Given the description of an element on the screen output the (x, y) to click on. 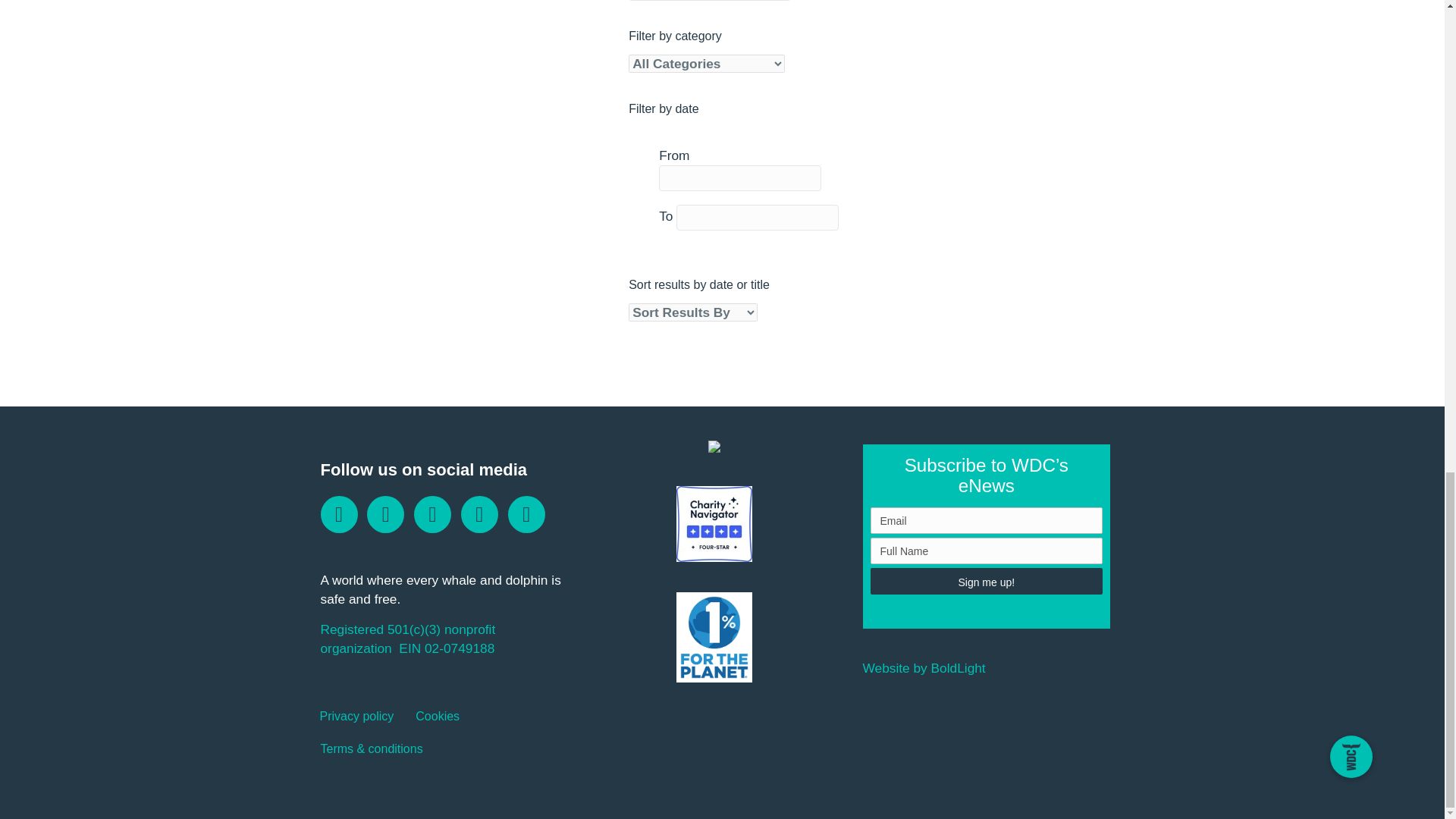
charity-navigator-web (714, 523)
